Given the description of an element on the screen output the (x, y) to click on. 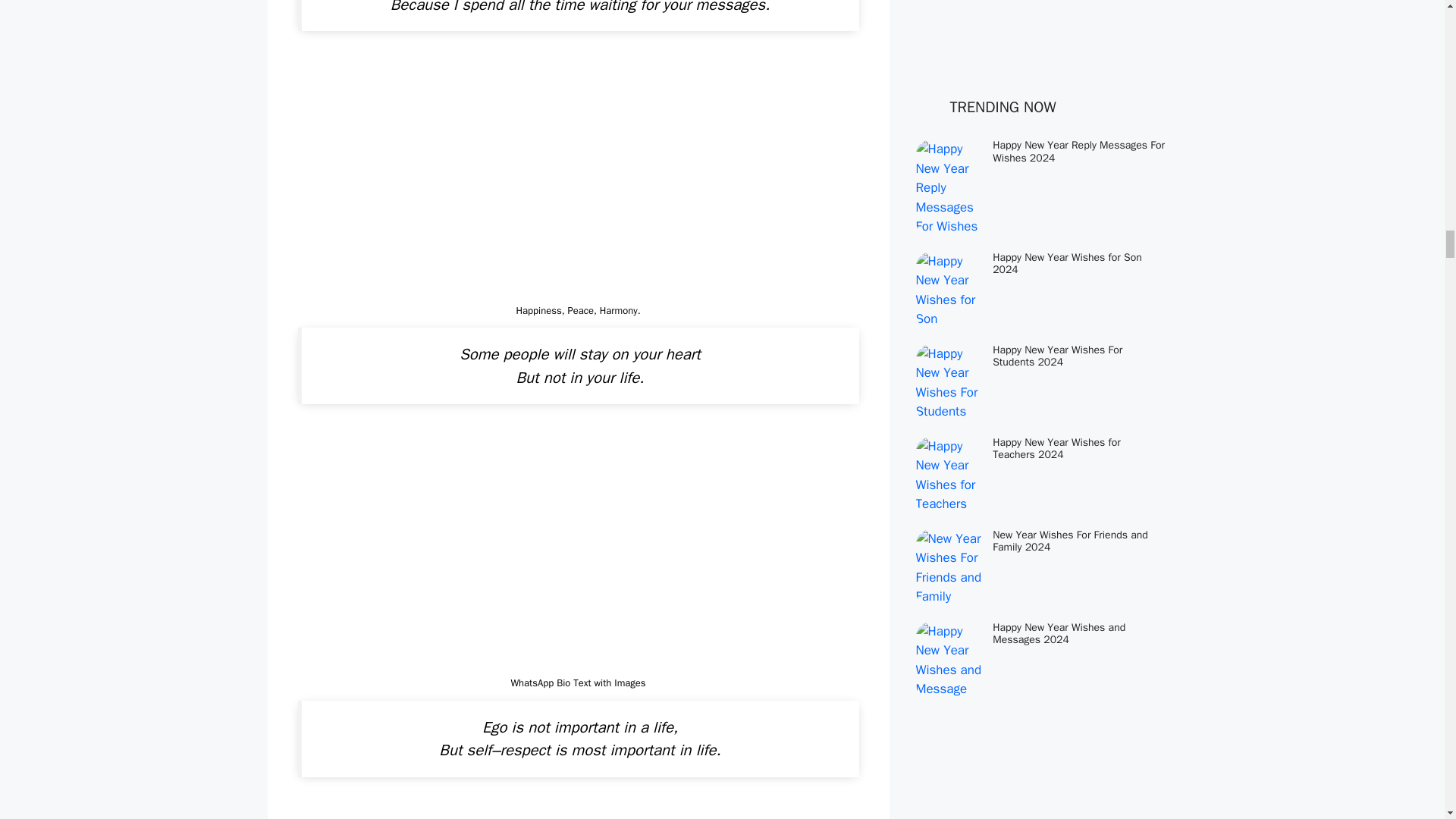
WhatsApp Bio Text with Images (577, 809)
WhatsApp Bio Text with Images (577, 548)
WhatsApp Bio Text with Images (577, 176)
